Given the description of an element on the screen output the (x, y) to click on. 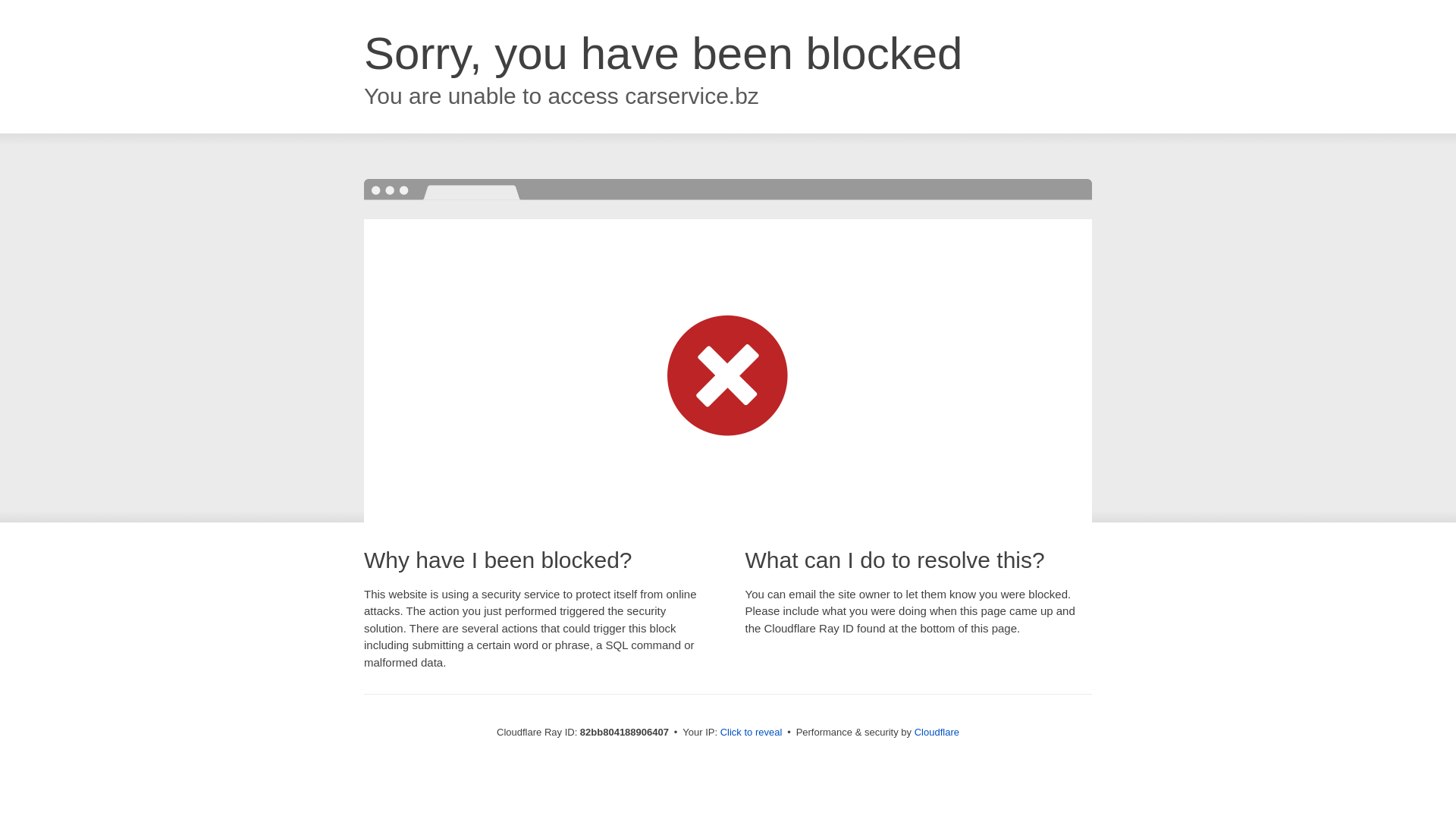
Cloudflare Element type: text (936, 731)
Click to reveal Element type: text (751, 732)
